Given the description of an element on the screen output the (x, y) to click on. 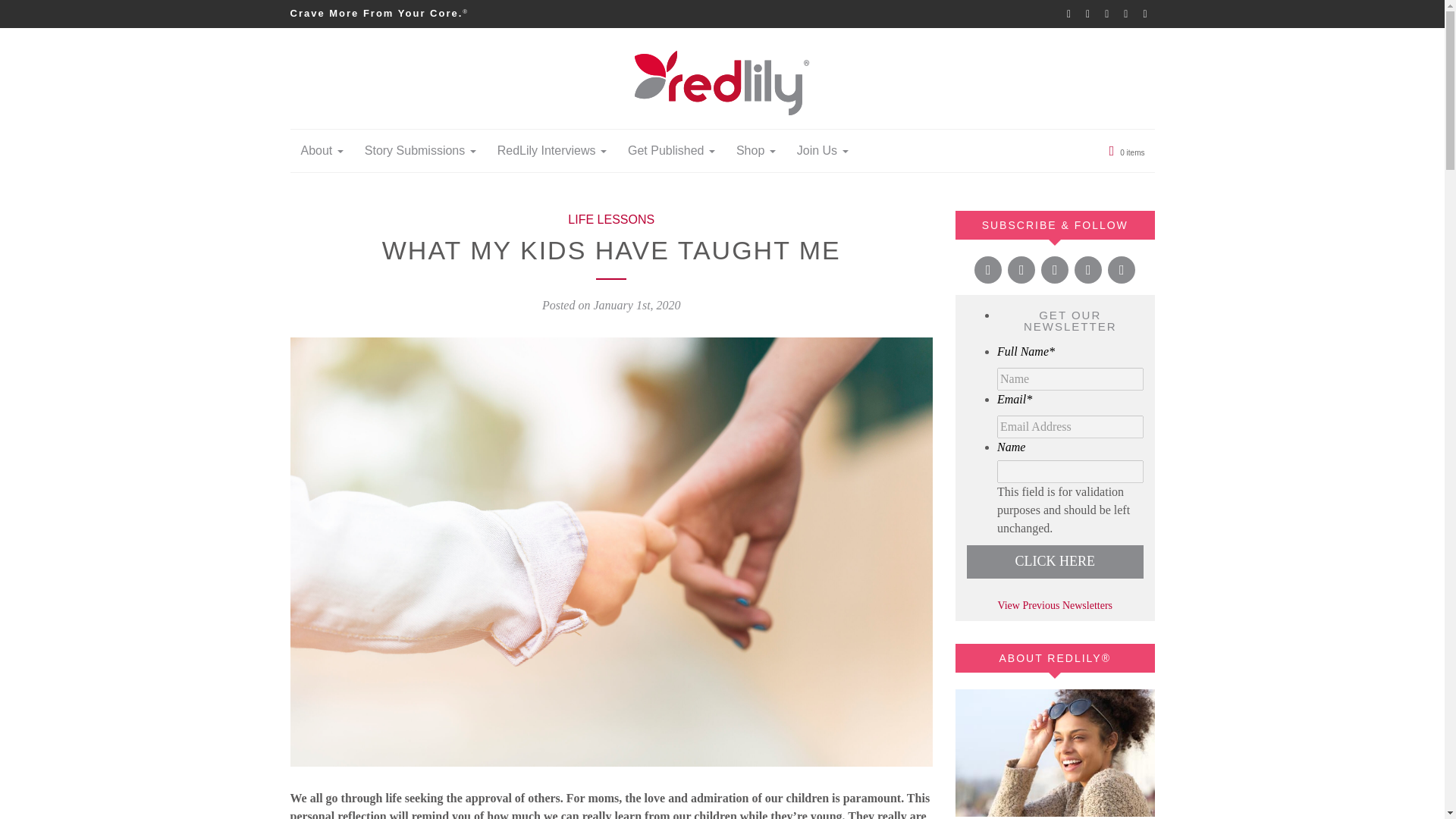
About (321, 150)
RedLily Interviews (551, 150)
About (321, 150)
Get Published (671, 150)
Shop (755, 150)
RedLily Interviews (551, 150)
Click Here (1054, 561)
Story Submissions (419, 150)
Join Us (822, 150)
Story Submissions (419, 150)
